Given the description of an element on the screen output the (x, y) to click on. 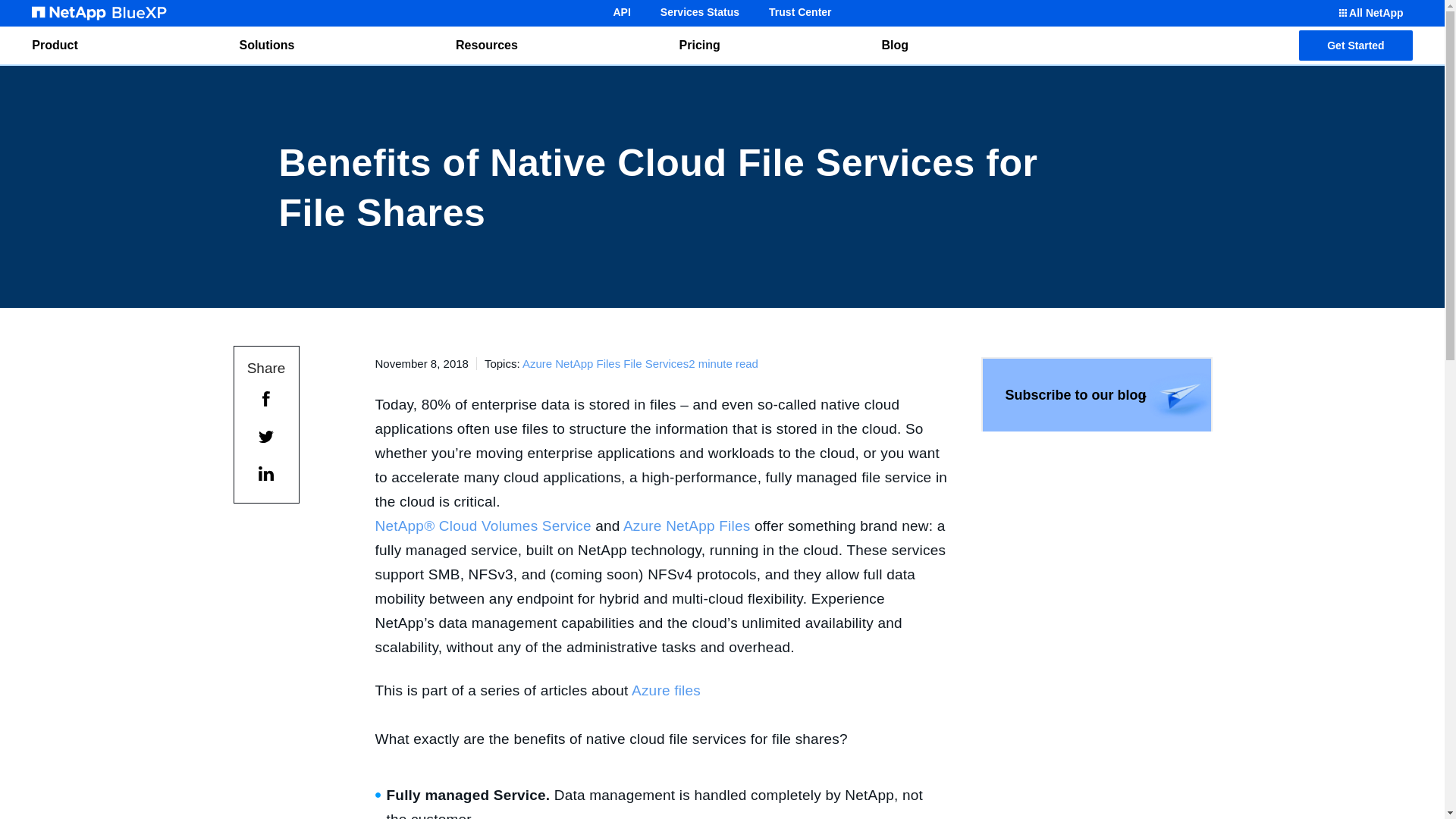
API (621, 12)
Trust Center (800, 12)
NetApp BlueXP (99, 12)
Product (54, 45)
All NetApp (1369, 13)
Services Status (699, 12)
